Given the description of an element on the screen output the (x, y) to click on. 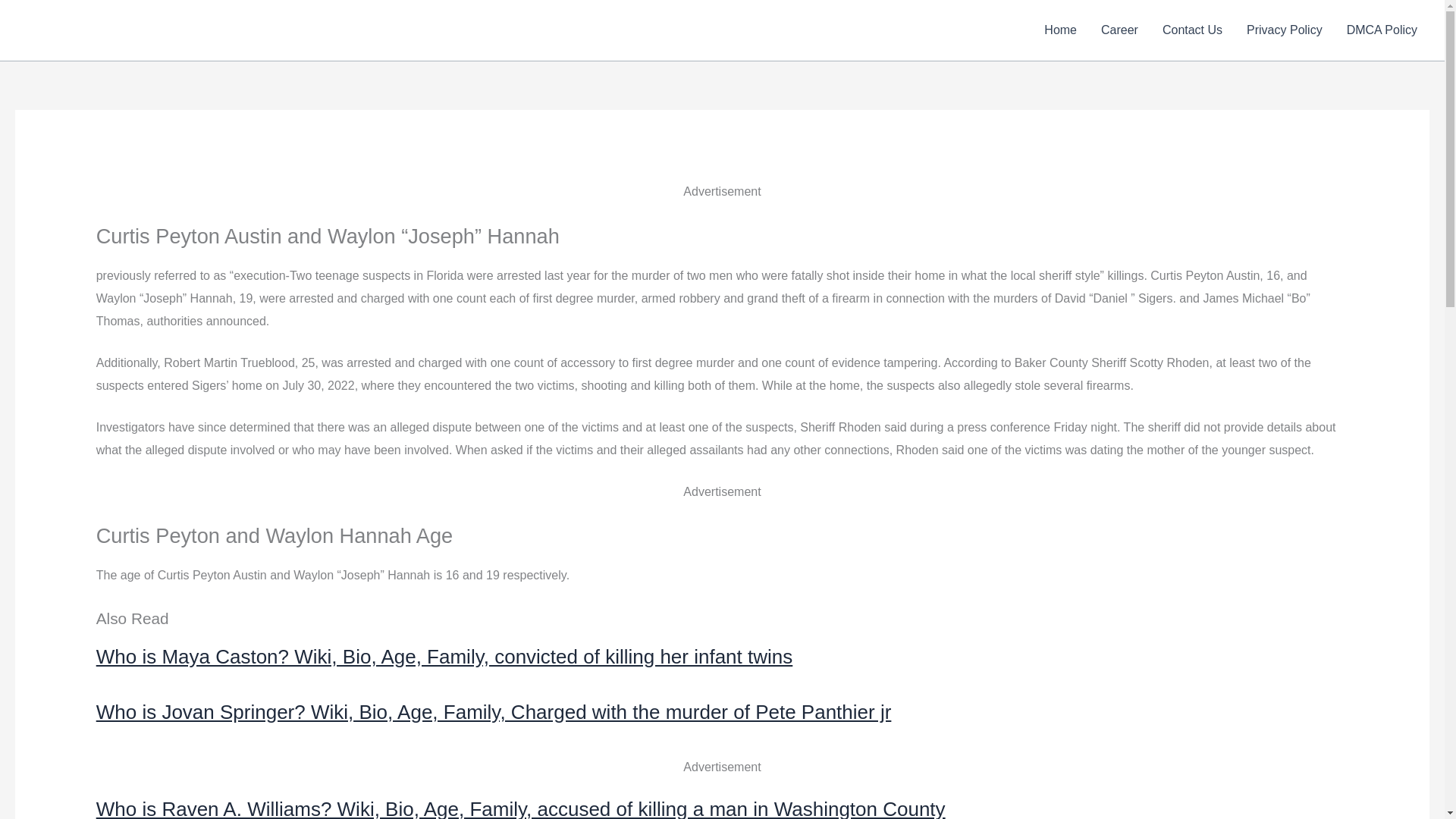
Contact Us (1192, 30)
Privacy Policy (1284, 30)
DMCA Policy (1382, 30)
Career (1119, 30)
Home (1060, 30)
